Given the description of an element on the screen output the (x, y) to click on. 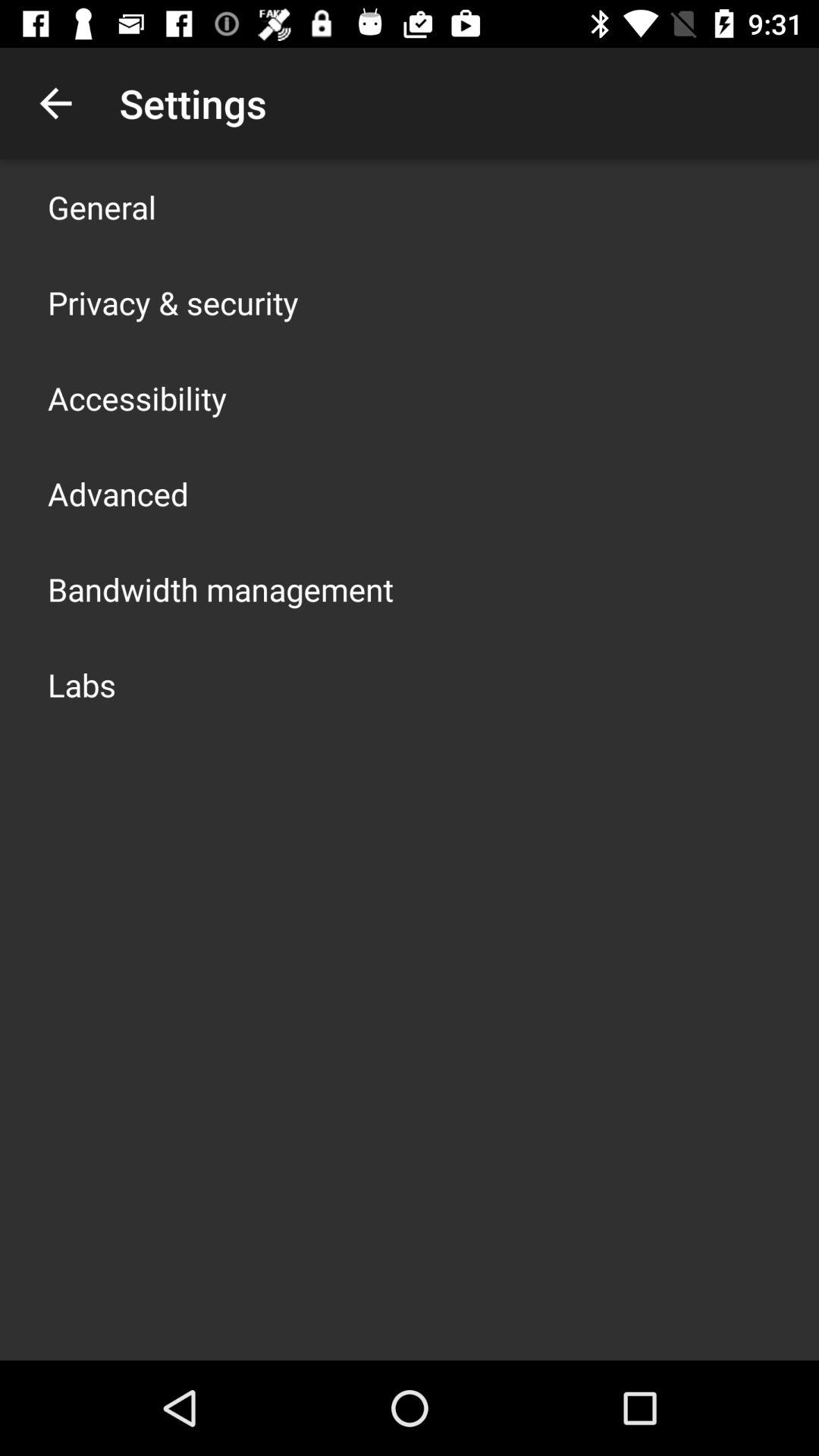
flip to the privacy & security icon (172, 302)
